Given the description of an element on the screen output the (x, y) to click on. 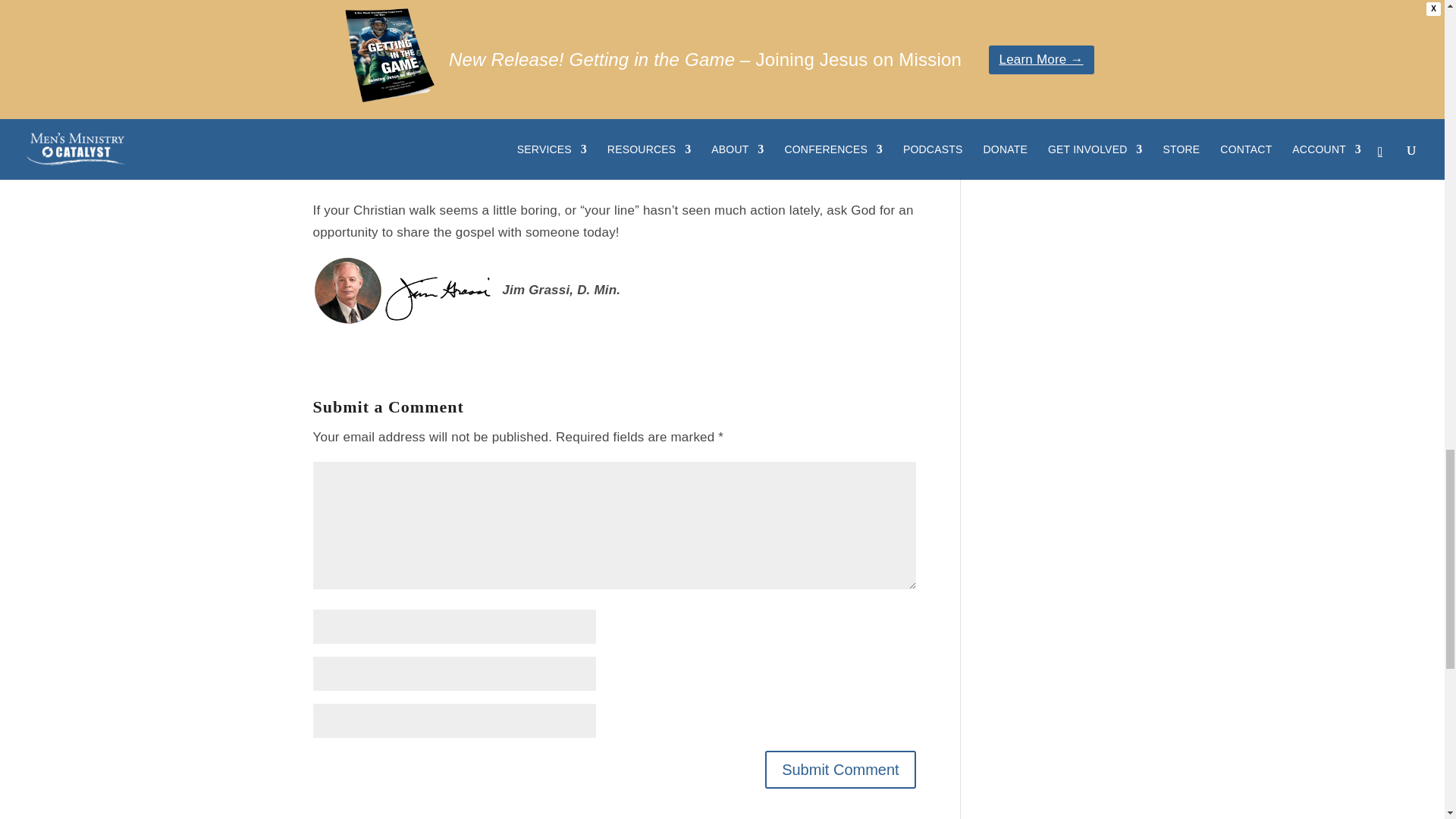
Submit Comment (840, 769)
